Given the description of an element on the screen output the (x, y) to click on. 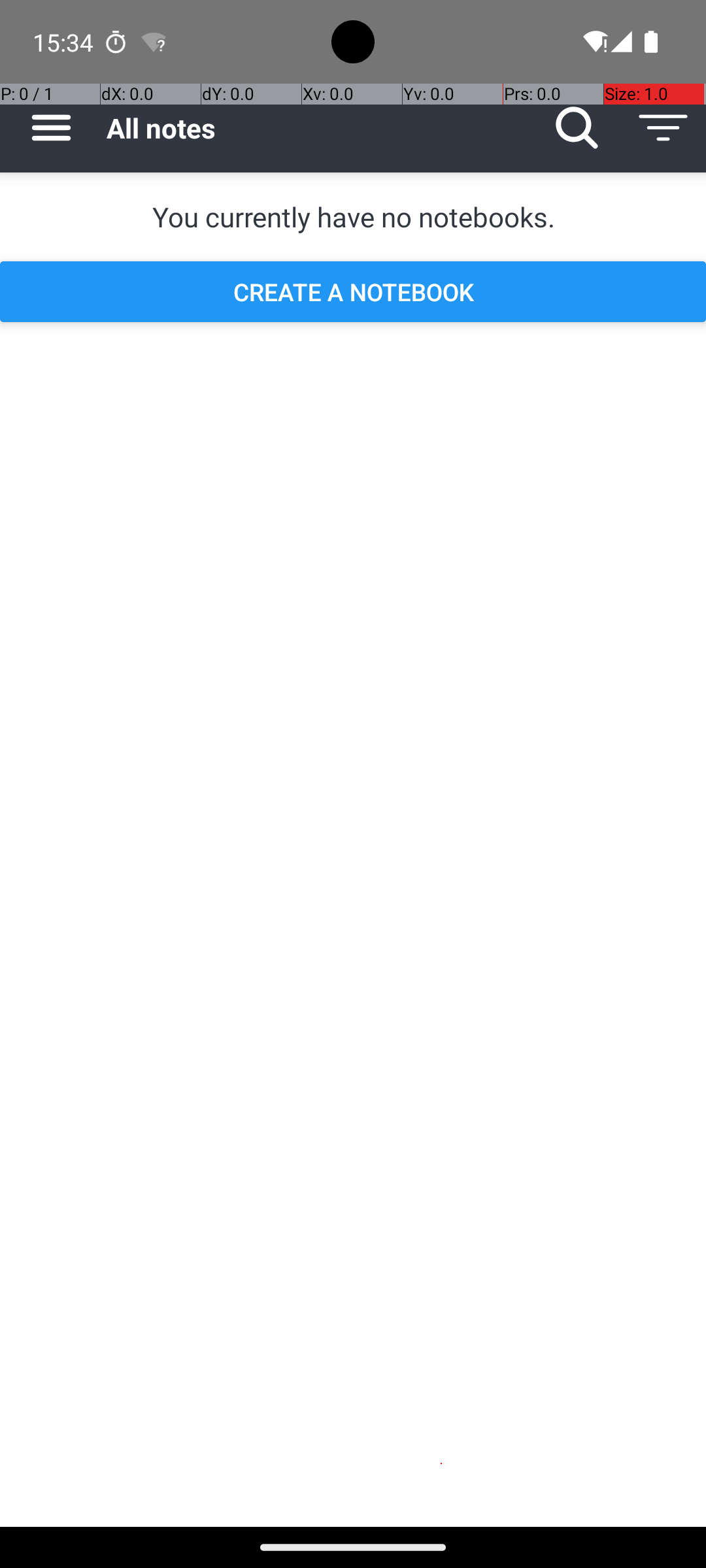
You currently have no notebooks. Element type: android.widget.TextView (353, 216)
CREATE A NOTEBOOK Element type: android.widget.TextView (352, 291)
